Given the description of an element on the screen output the (x, y) to click on. 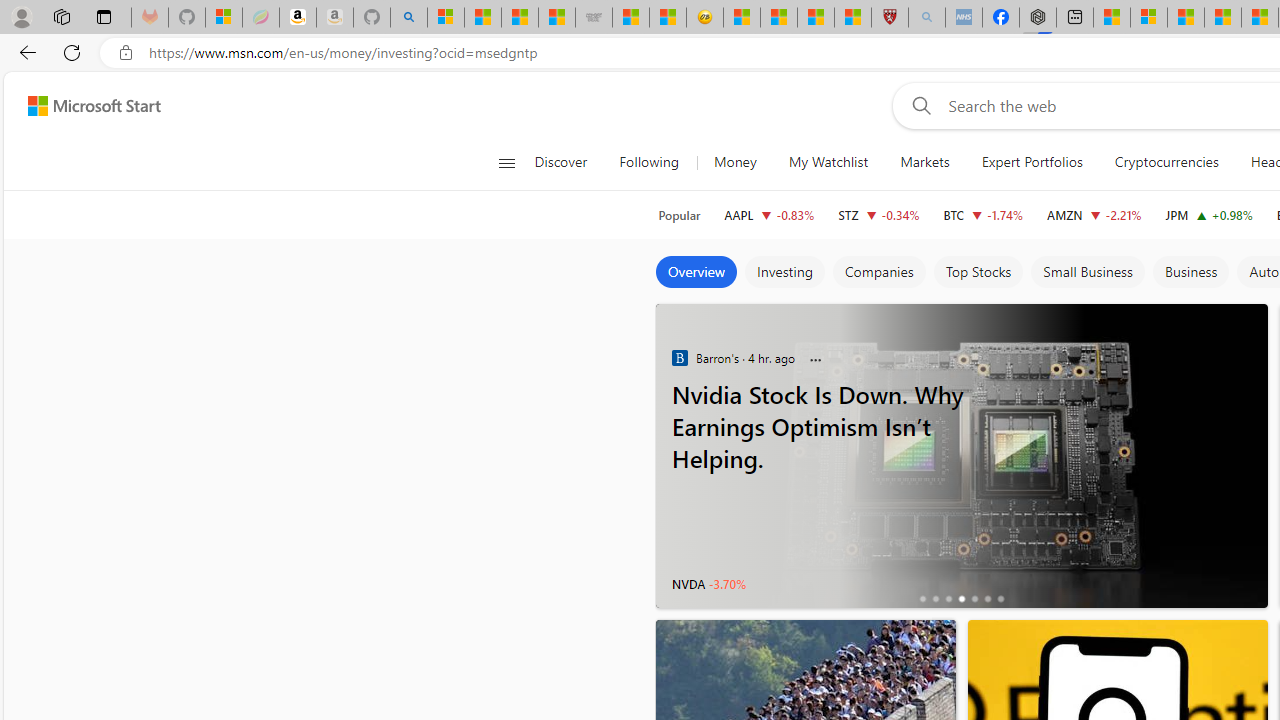
Microsoft account | Privacy (1149, 17)
Stocks - MSN (556, 17)
Recipes - MSN (742, 17)
Personal Profile (21, 16)
Class: button-glyph (505, 162)
Companies (878, 272)
STZ CONSTELLATION BRANDS, INC. decrease 243.92 -0.82 -0.34% (878, 214)
AMZN AMAZON.COM, INC. decrease 176.13 -3.98 -2.21% (1094, 214)
Discover (560, 162)
